Given the description of an element on the screen output the (x, y) to click on. 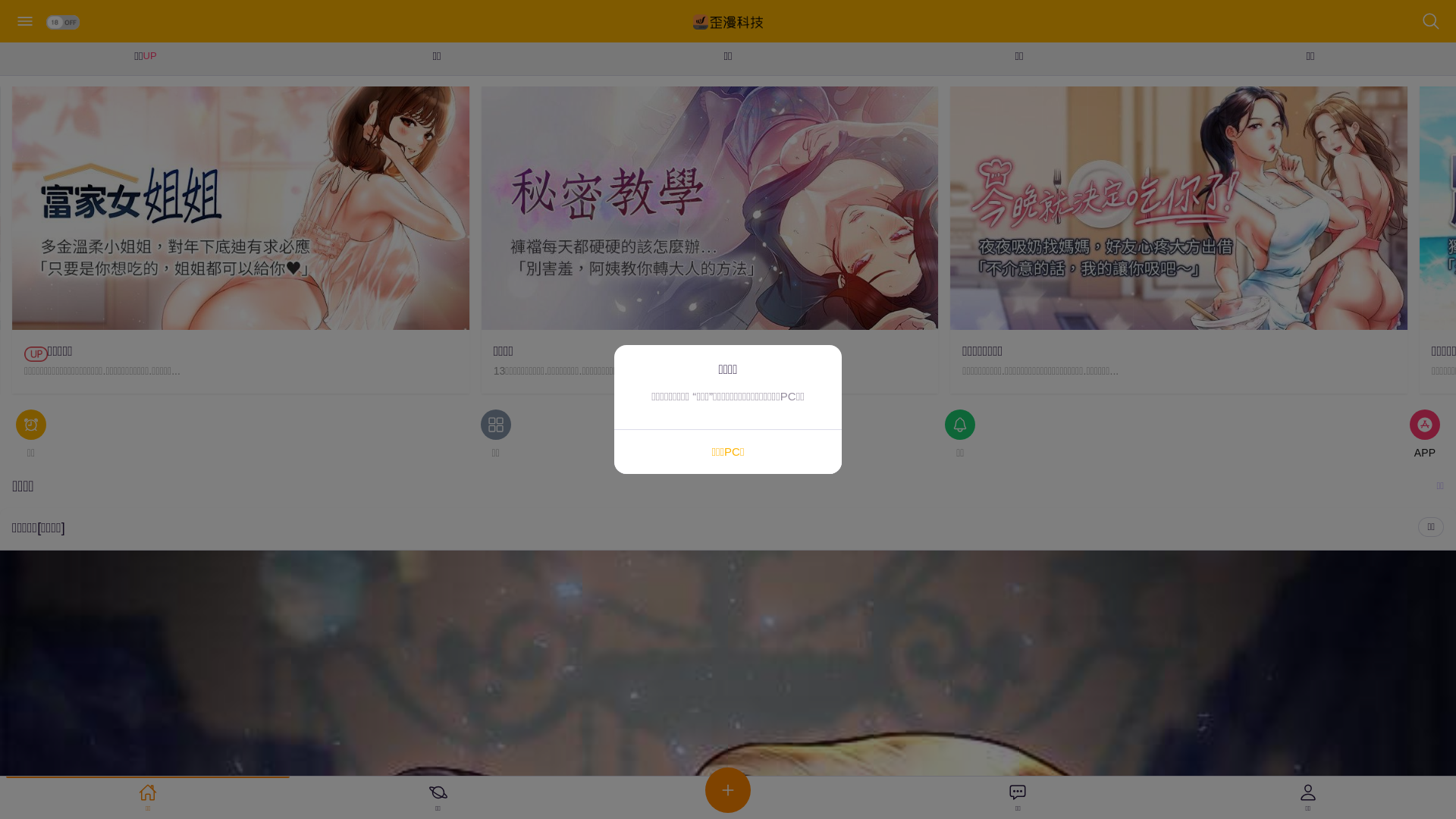
APP Element type: text (1424, 434)
